Given the description of an element on the screen output the (x, y) to click on. 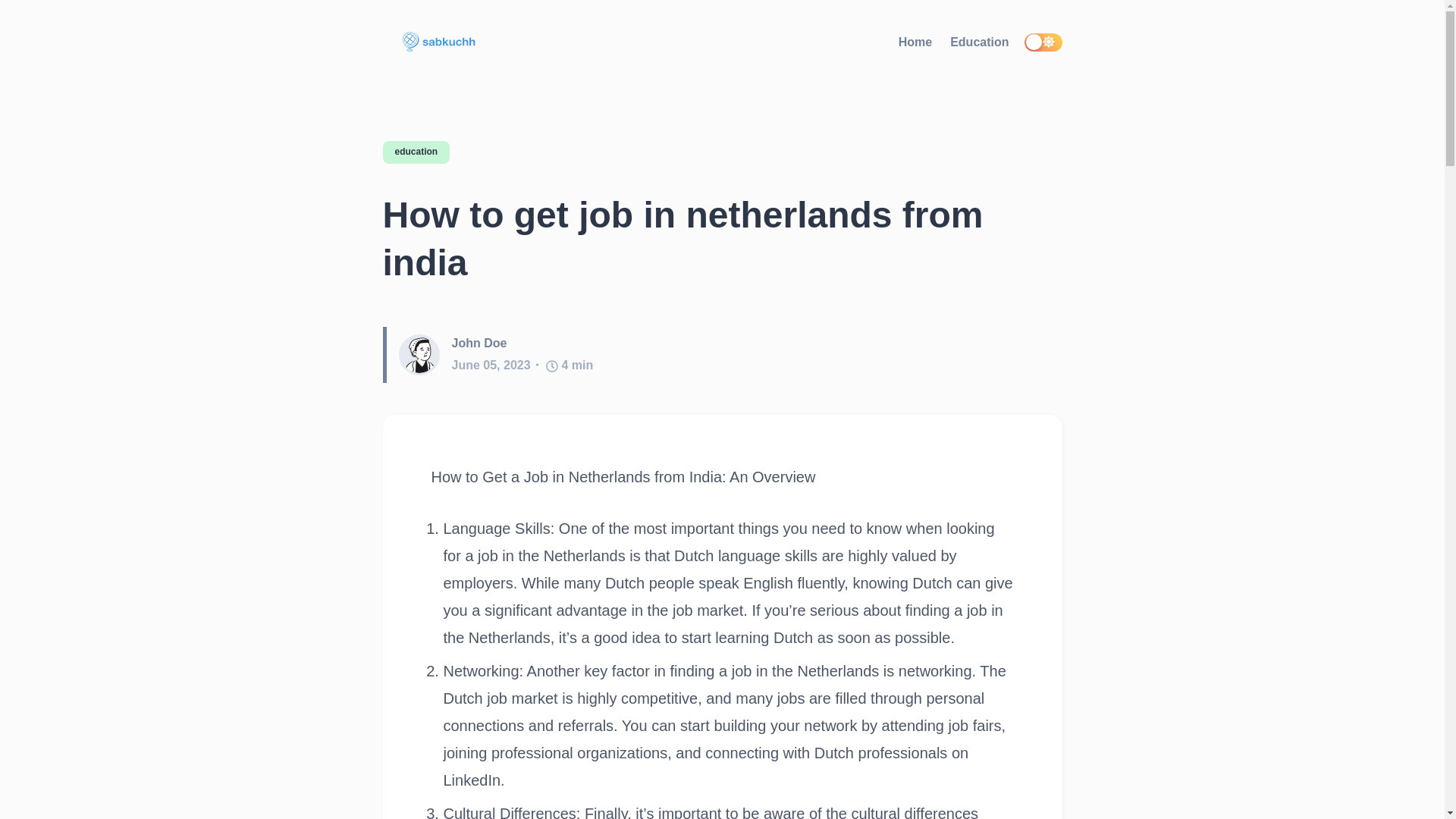
education (415, 151)
Education (979, 42)
How to get job in netherlands from india (721, 239)
John Doe (478, 342)
Home (914, 42)
